Given the description of an element on the screen output the (x, y) to click on. 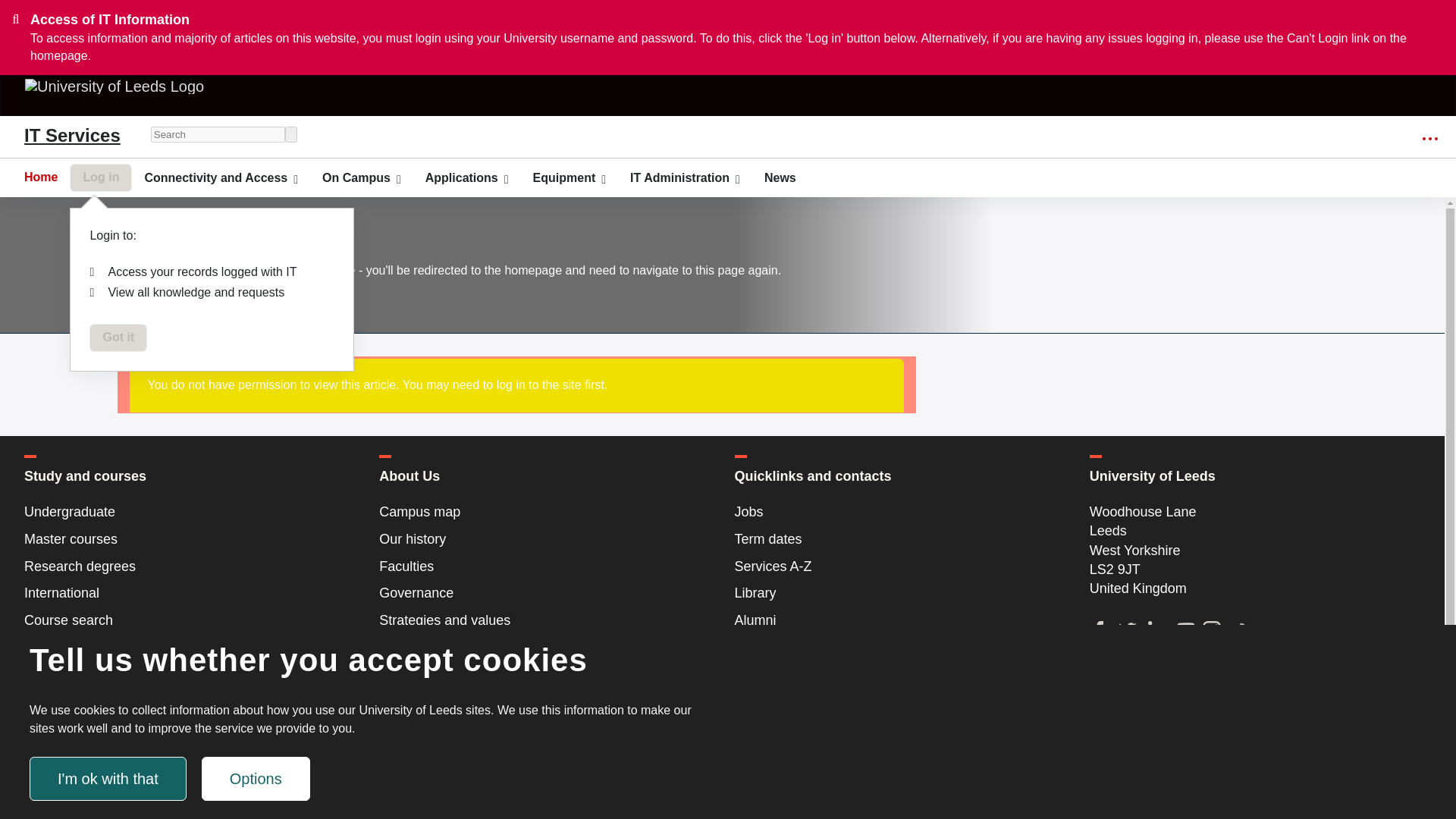
Leeds University Union (898, 761)
Faculties (544, 567)
Course search (189, 626)
IT Services (72, 137)
Services A-Z (898, 567)
Governance (544, 593)
Equality (544, 648)
VideoLeeds (898, 674)
Campus map (544, 512)
Staff A-Z (898, 701)
